Given the description of an element on the screen output the (x, y) to click on. 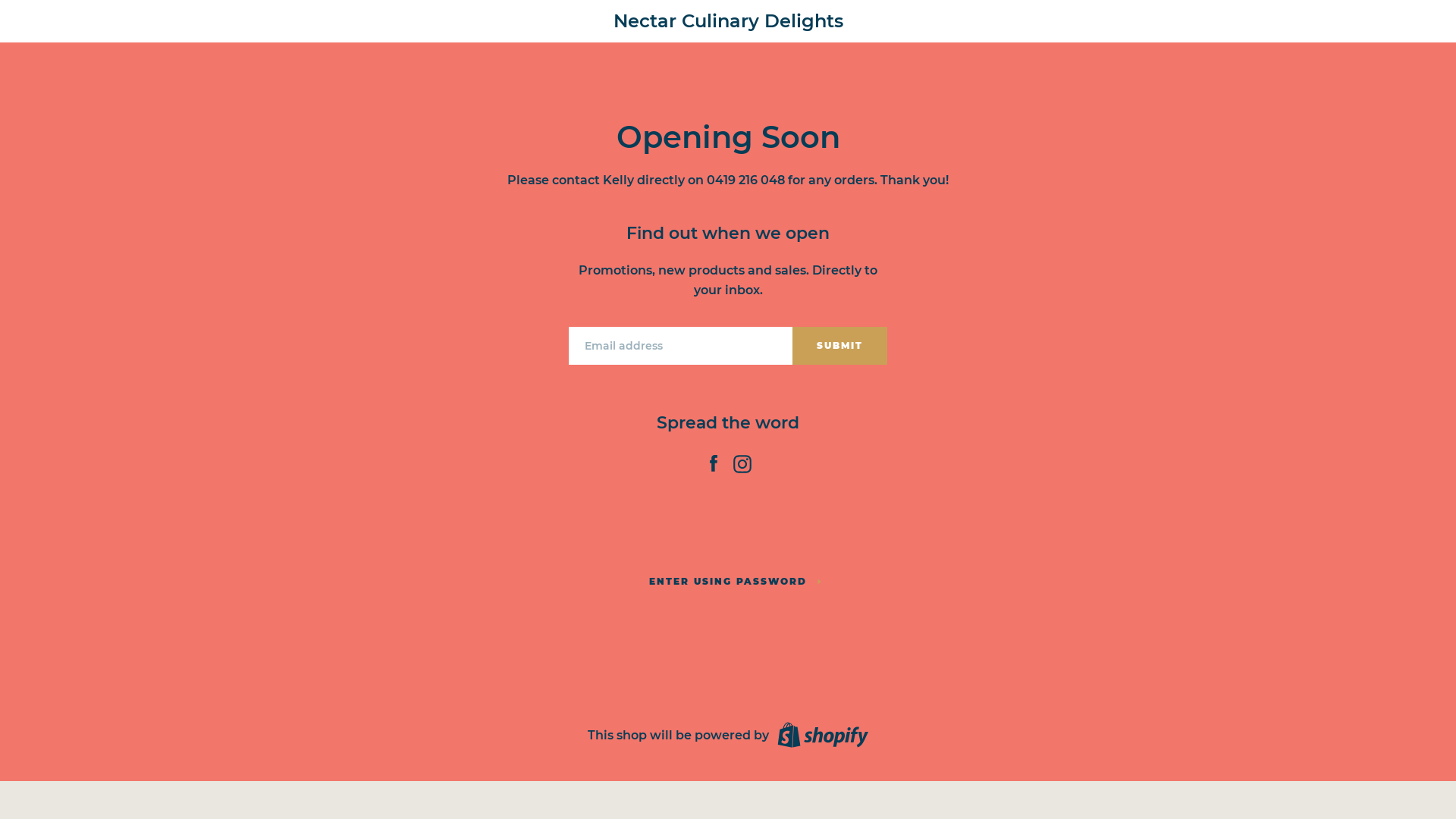
Shopify Element type: text (819, 735)
Facebook Element type: text (713, 460)
Instagram Element type: text (742, 460)
SUBMIT Element type: text (839, 345)
ENTER USING PASSWORD Element type: text (727, 581)
